Given the description of an element on the screen output the (x, y) to click on. 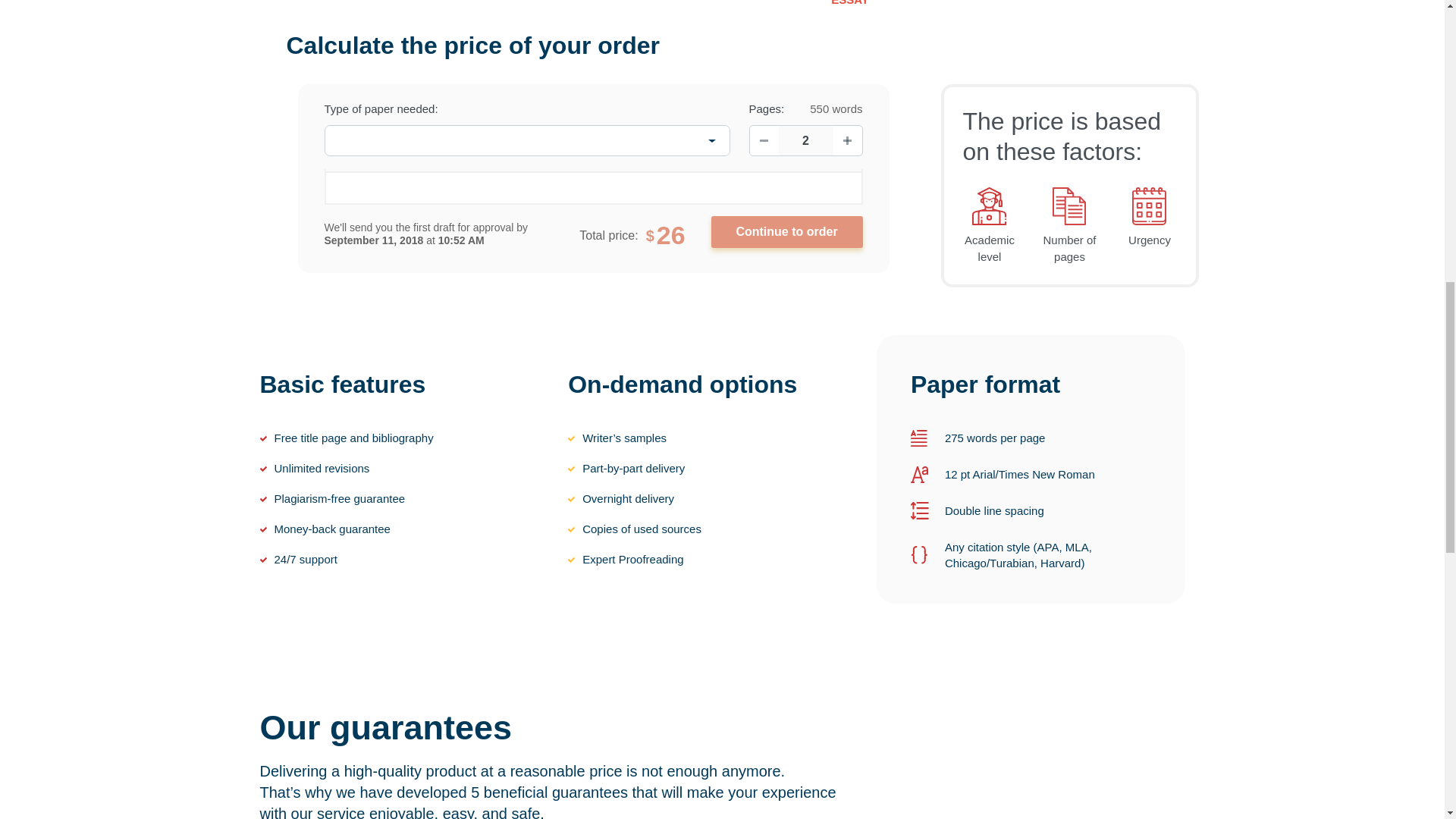
2 (804, 140)
Continue to order (787, 232)
Continue to order (787, 232)
Increase (846, 140)
Continue to Order (787, 232)
Decrease (763, 140)
